Given the description of an element on the screen output the (x, y) to click on. 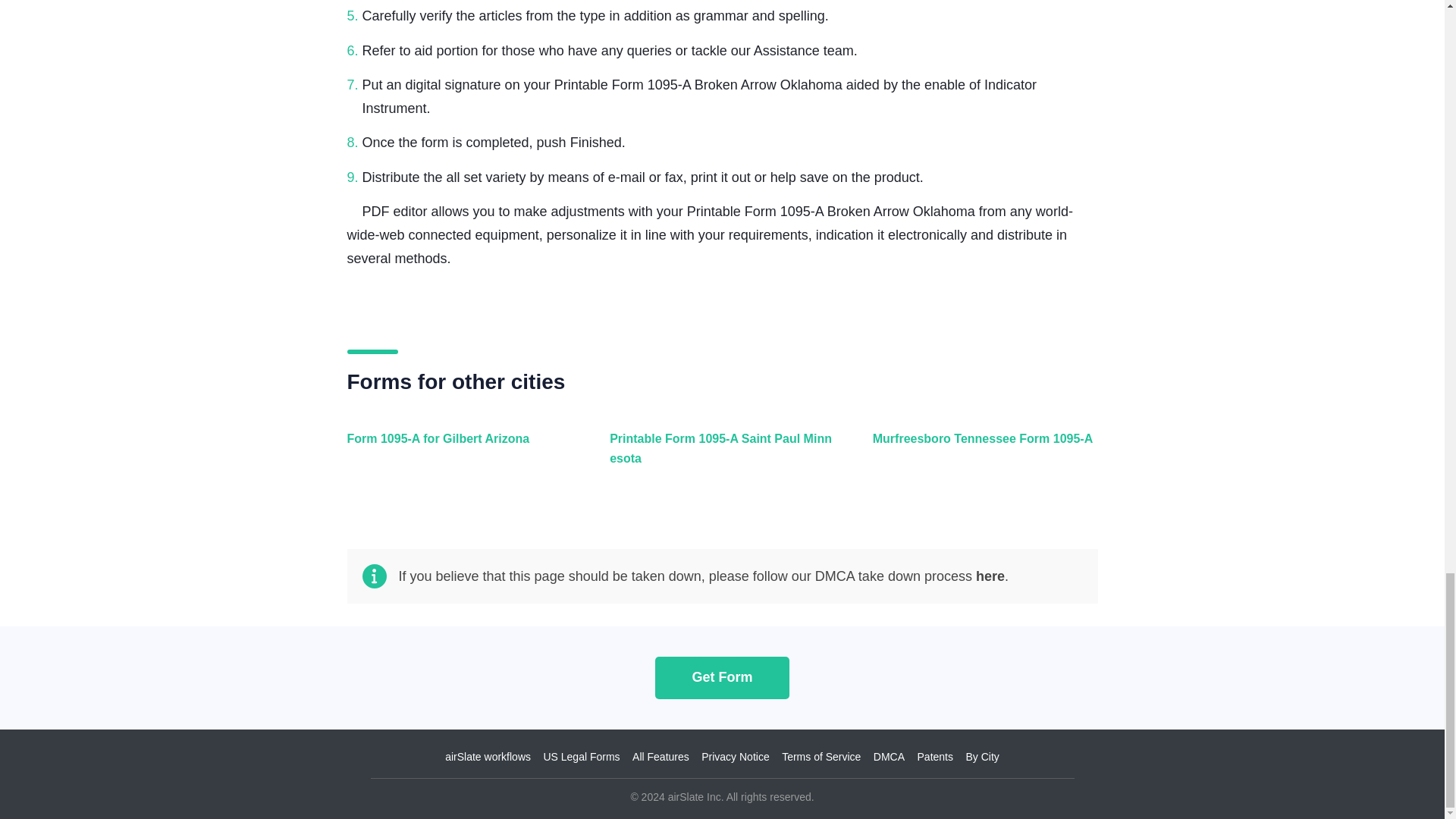
All Features (659, 756)
By City (981, 756)
Get Form (722, 676)
Terms of Service (820, 756)
DMCA (888, 756)
Printable Form 1095-A Saint Paul Minnesota (718, 456)
US Legal Forms (581, 756)
Patents (935, 756)
Murfreesboro Tennessee Form 1095-A (981, 456)
Privacy Notice (734, 756)
